Given the description of an element on the screen output the (x, y) to click on. 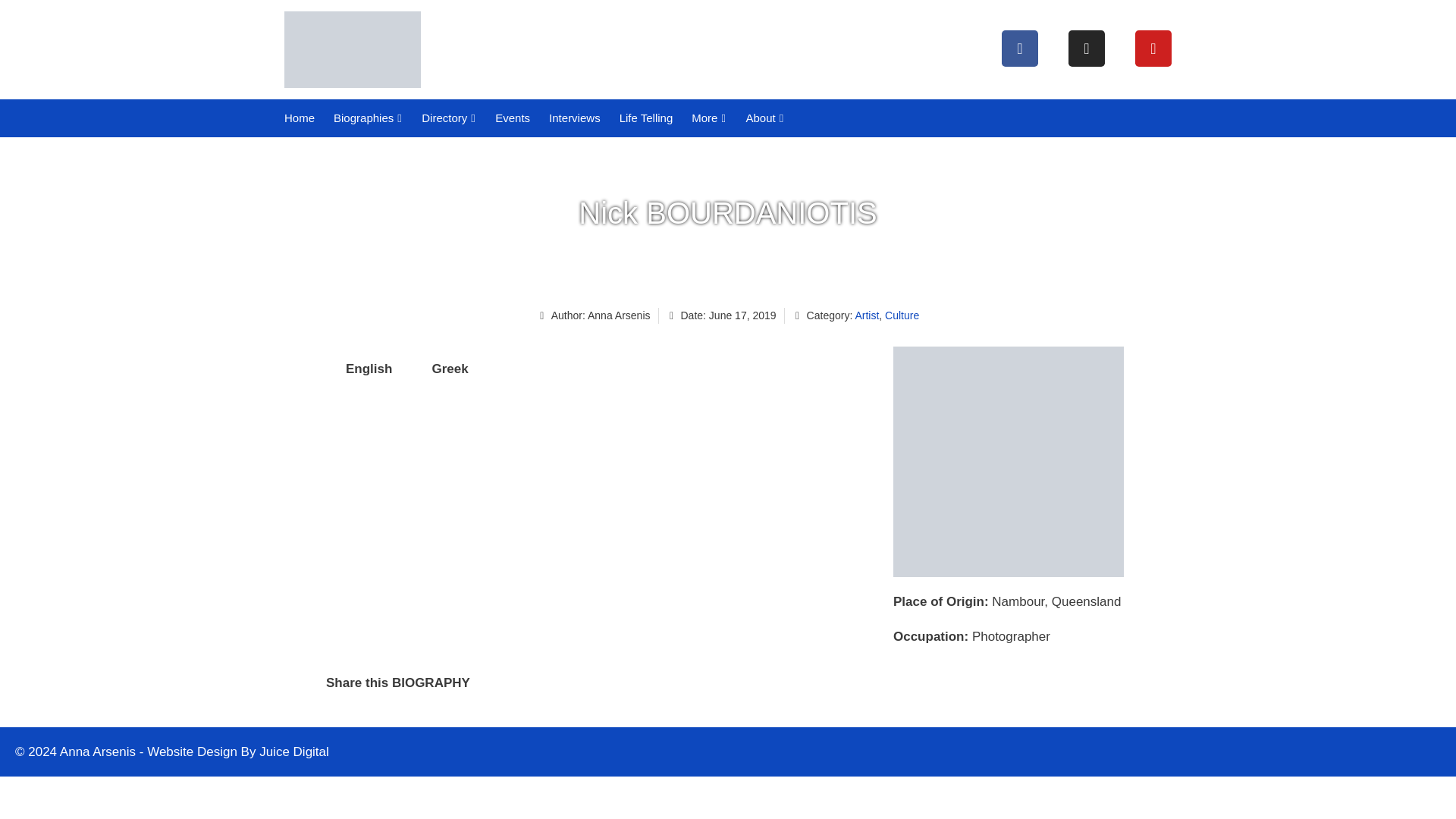
Directory (446, 118)
Home (297, 118)
Biographies (365, 118)
